Given the description of an element on the screen output the (x, y) to click on. 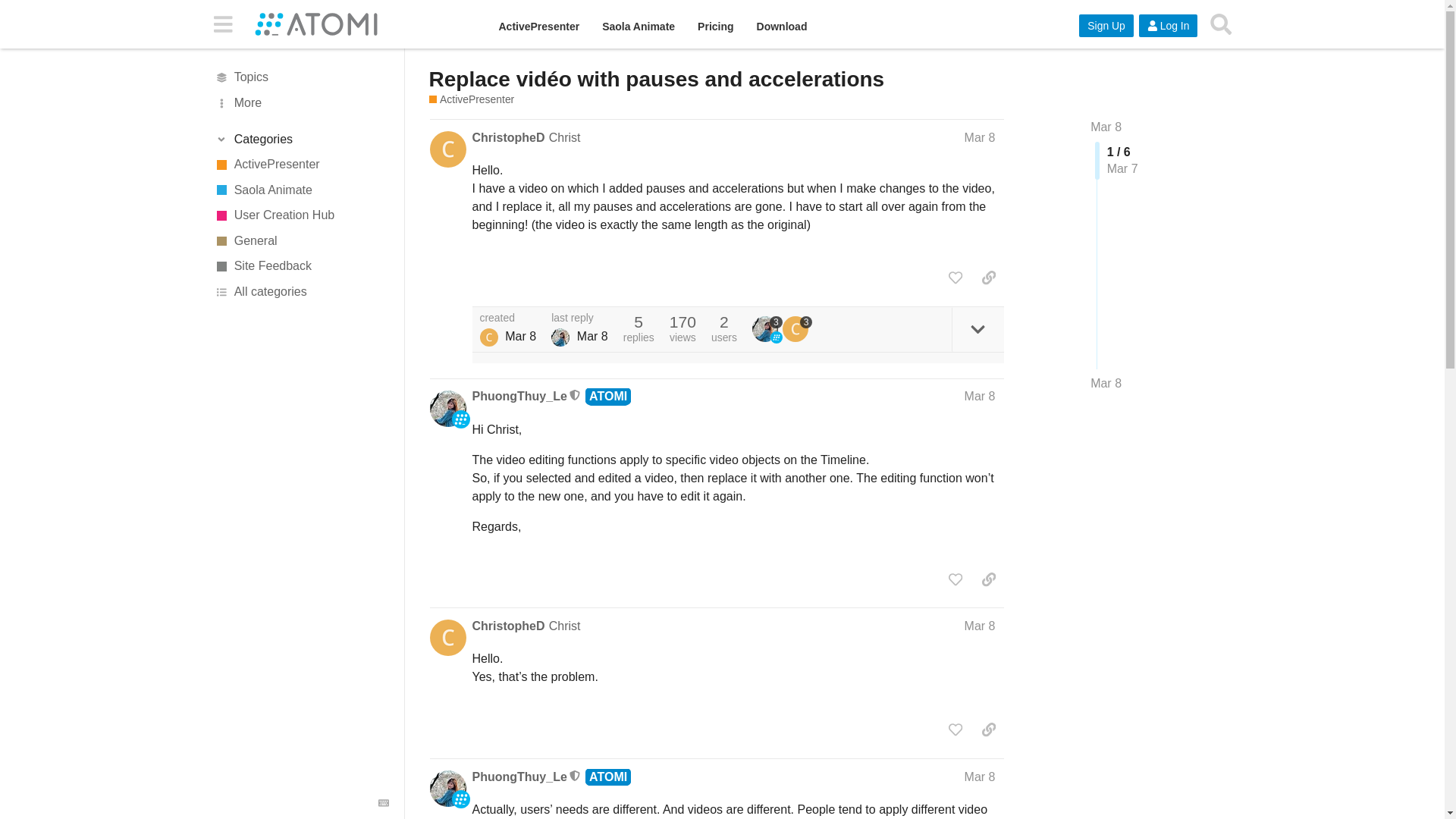
Christ (564, 137)
Search (1220, 23)
last reply (579, 317)
Post date (979, 137)
Mar 8 (979, 137)
ActivePresenter (301, 164)
More (301, 103)
Saola Animate (638, 26)
Jump to the last post (1105, 382)
3 (797, 329)
Mar 8 (1105, 126)
Pricing (714, 26)
User Creation Hub (301, 216)
